Given the description of an element on the screen output the (x, y) to click on. 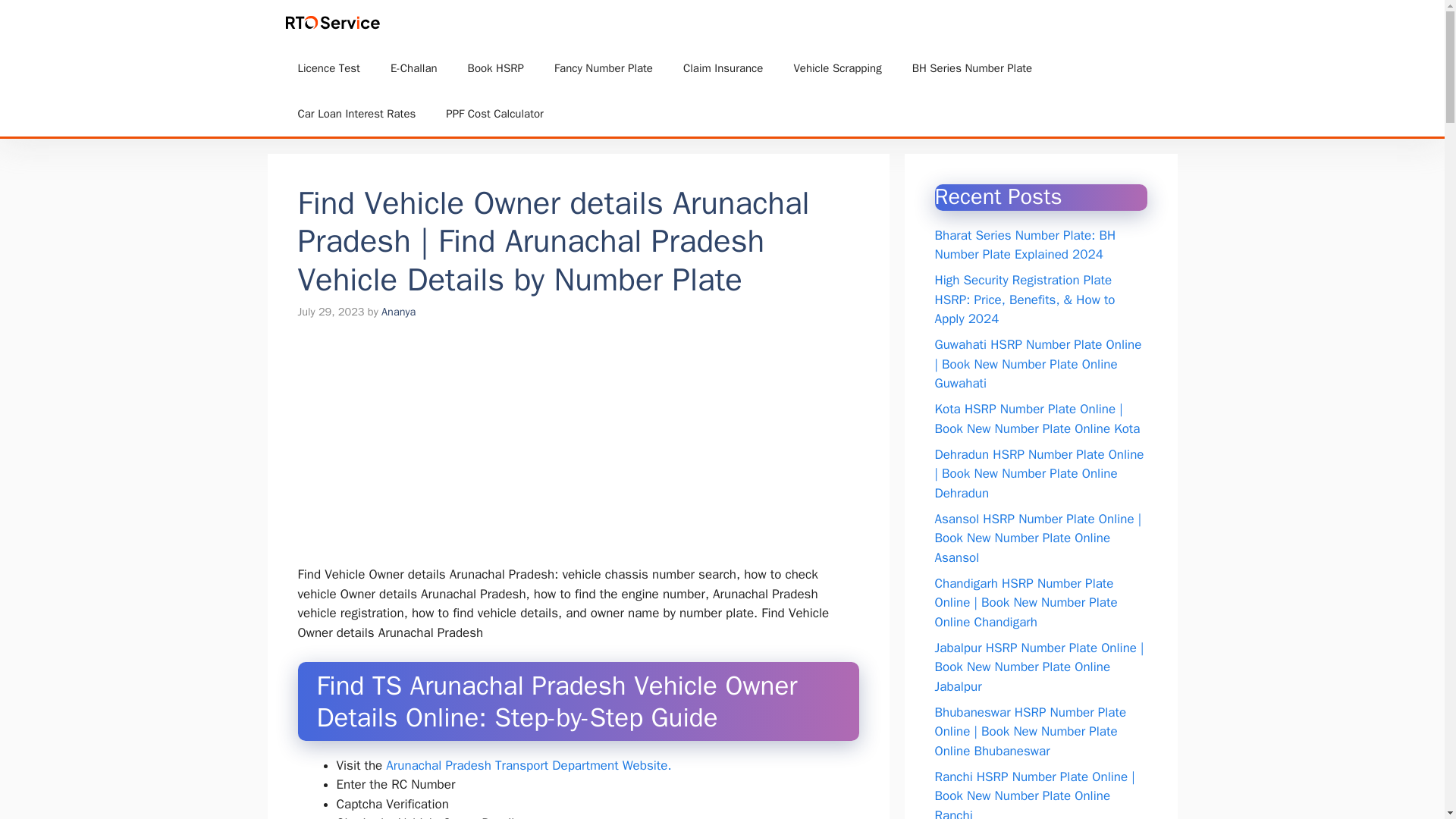
Vehicle Scrapping (836, 67)
Car Loan Interest Rates (356, 113)
Licence Test (328, 67)
Bharat Series Number Plate: BH Number Plate Explained 2024 (1024, 244)
Fancy Number Plate (603, 67)
PPF Cost Calculator (494, 113)
E-Challan (413, 67)
Arunachal Pradesh Transport Department Website. (528, 765)
View all posts by Ananya (397, 311)
Ananya (397, 311)
